Given the description of an element on the screen output the (x, y) to click on. 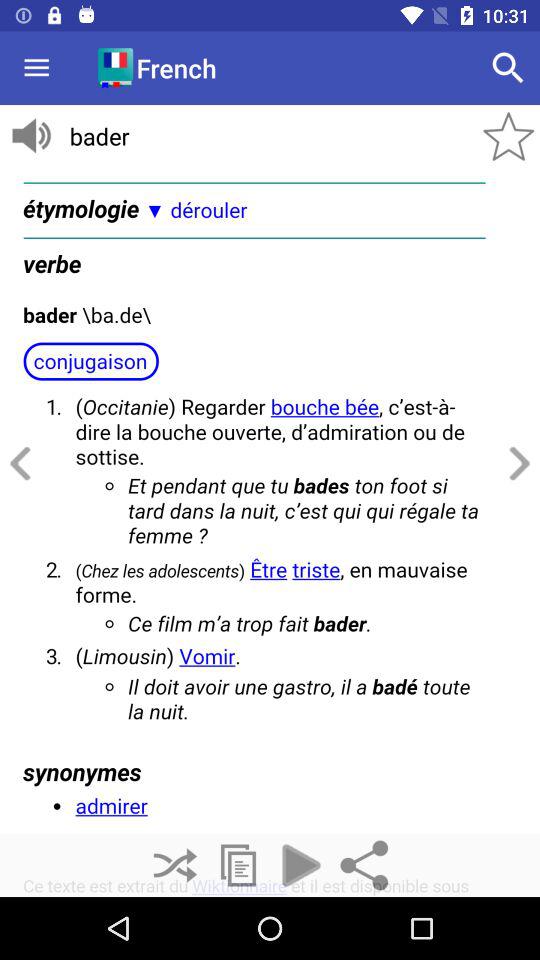
go to next (516, 463)
